Given the description of an element on the screen output the (x, y) to click on. 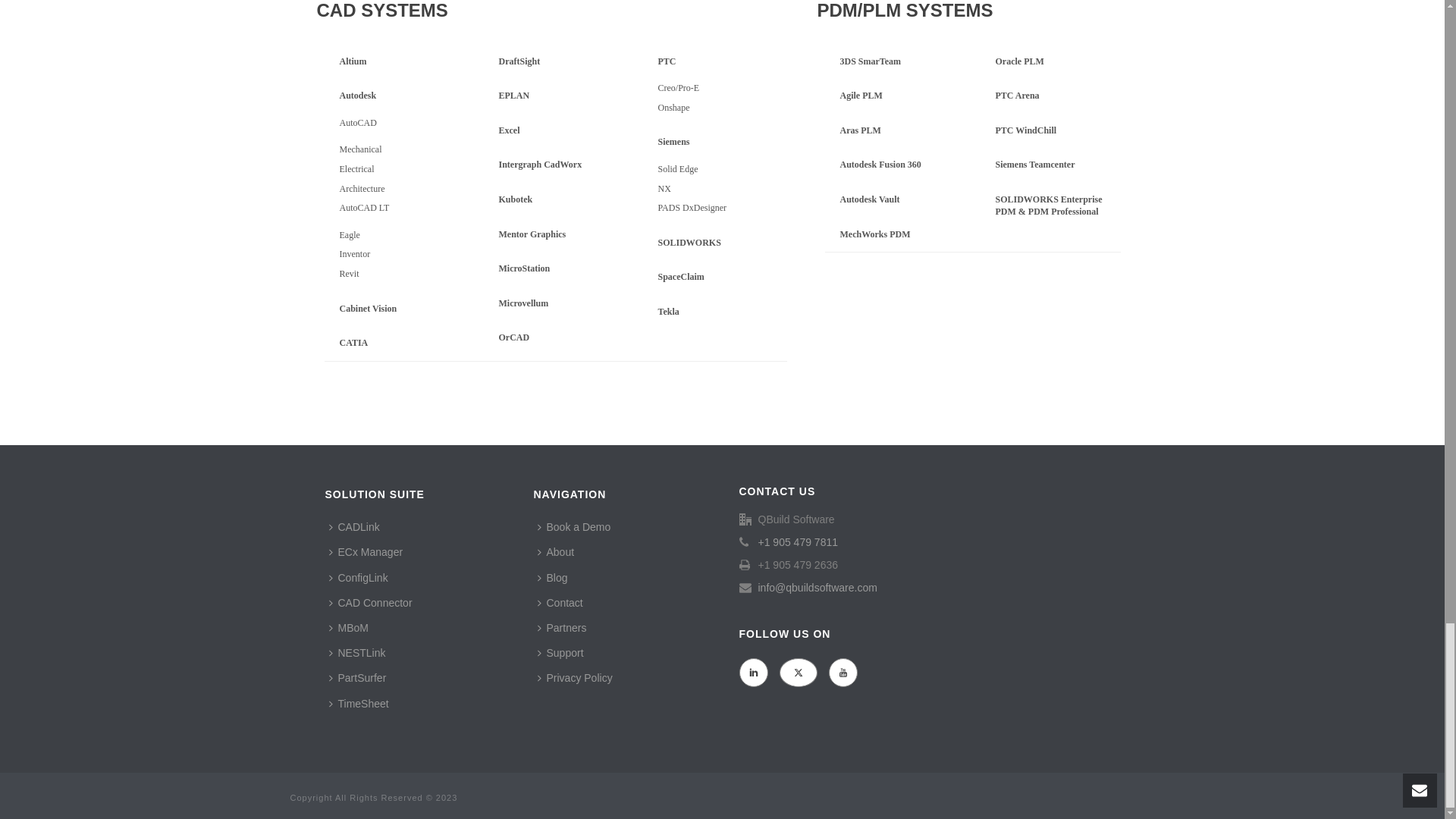
 youtube (842, 672)
 twitter (797, 672)
 linkedin (752, 672)
